Given the description of an element on the screen output the (x, y) to click on. 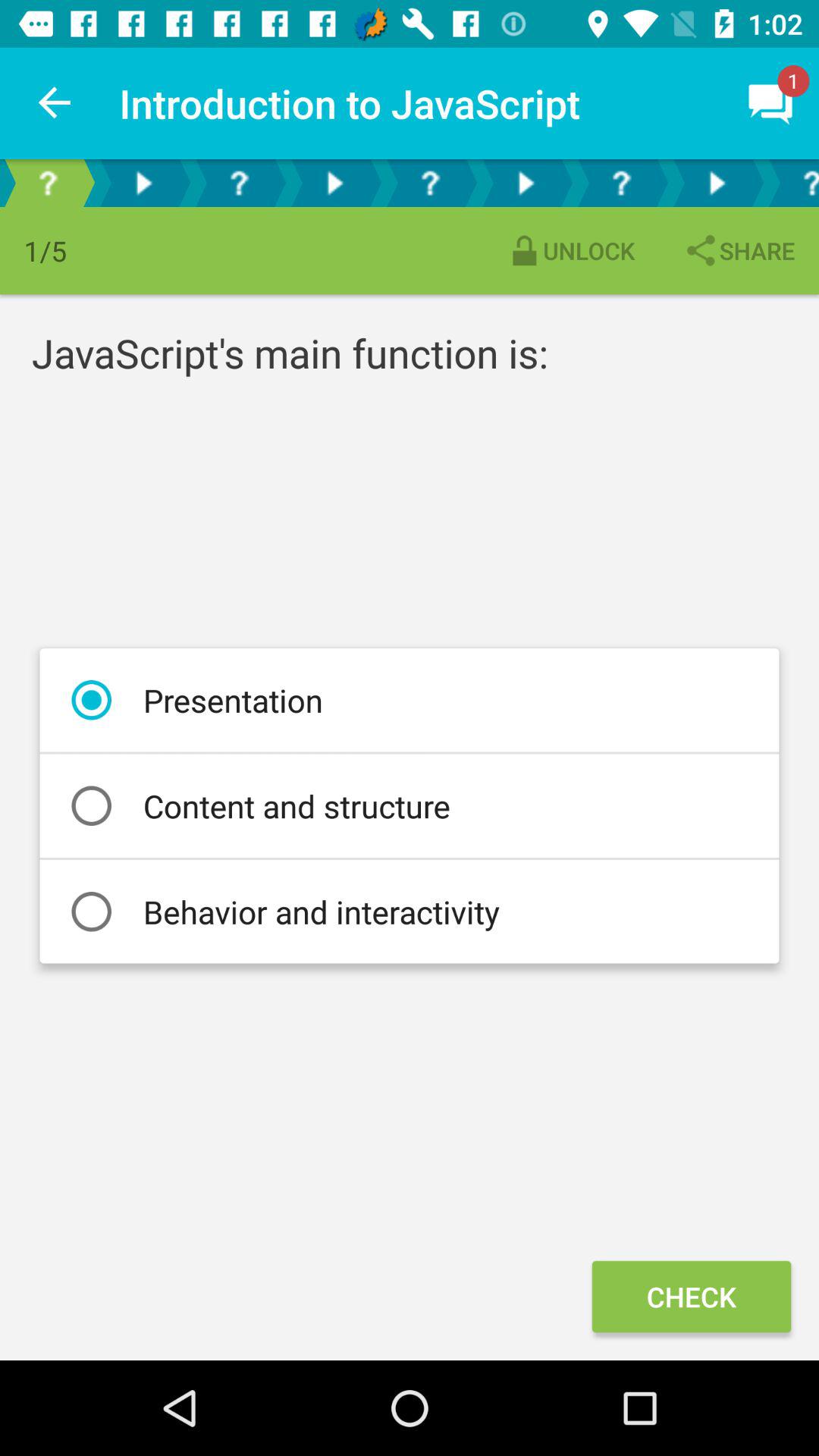
blue question mark option (791, 183)
